Given the description of an element on the screen output the (x, y) to click on. 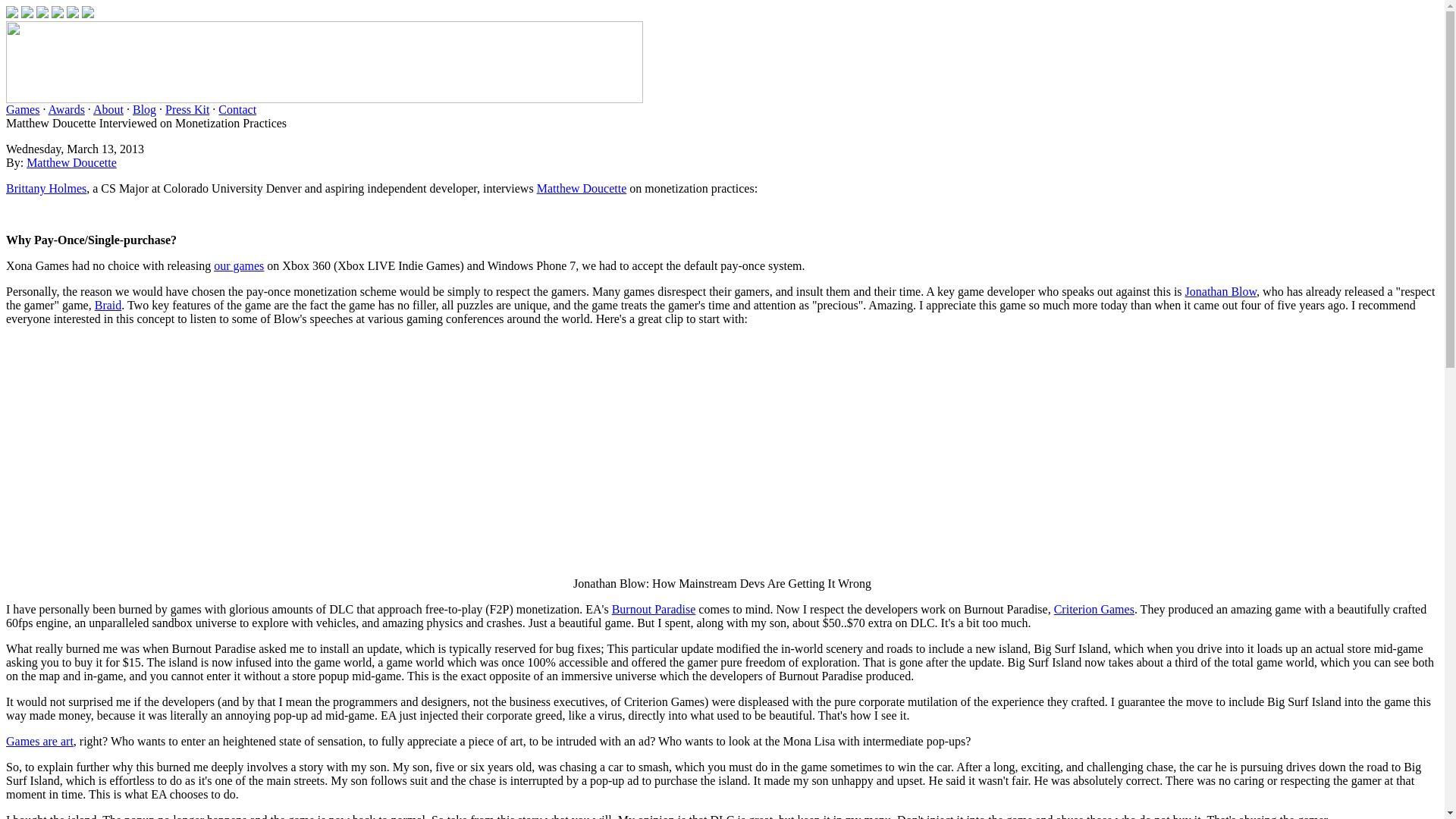
Blog (143, 109)
Awards (66, 109)
our games (238, 265)
Press Kit (187, 109)
Jonathan Blow (1221, 291)
Burnout Paradise (653, 608)
Games are art (39, 740)
About (108, 109)
Matthew Doucette (582, 187)
Games (22, 109)
